Given the description of an element on the screen output the (x, y) to click on. 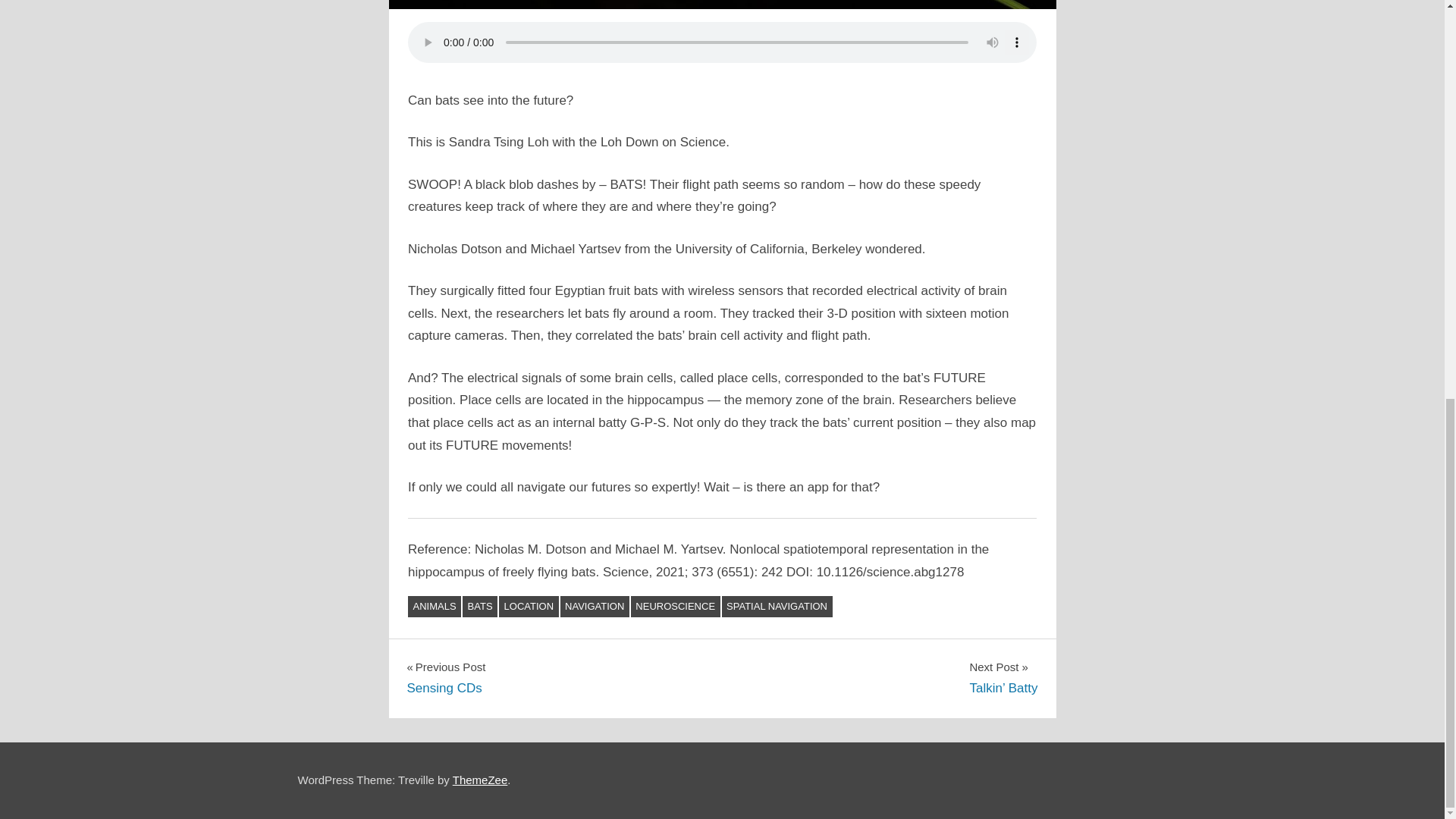
ANIMALS (434, 606)
BATS (480, 606)
SPATIAL NAVIGATION (777, 606)
NAVIGATION (594, 606)
LOCATION (529, 606)
NEUROSCIENCE (675, 606)
ThemeZee (445, 677)
EPISODES (480, 779)
